Given the description of an element on the screen output the (x, y) to click on. 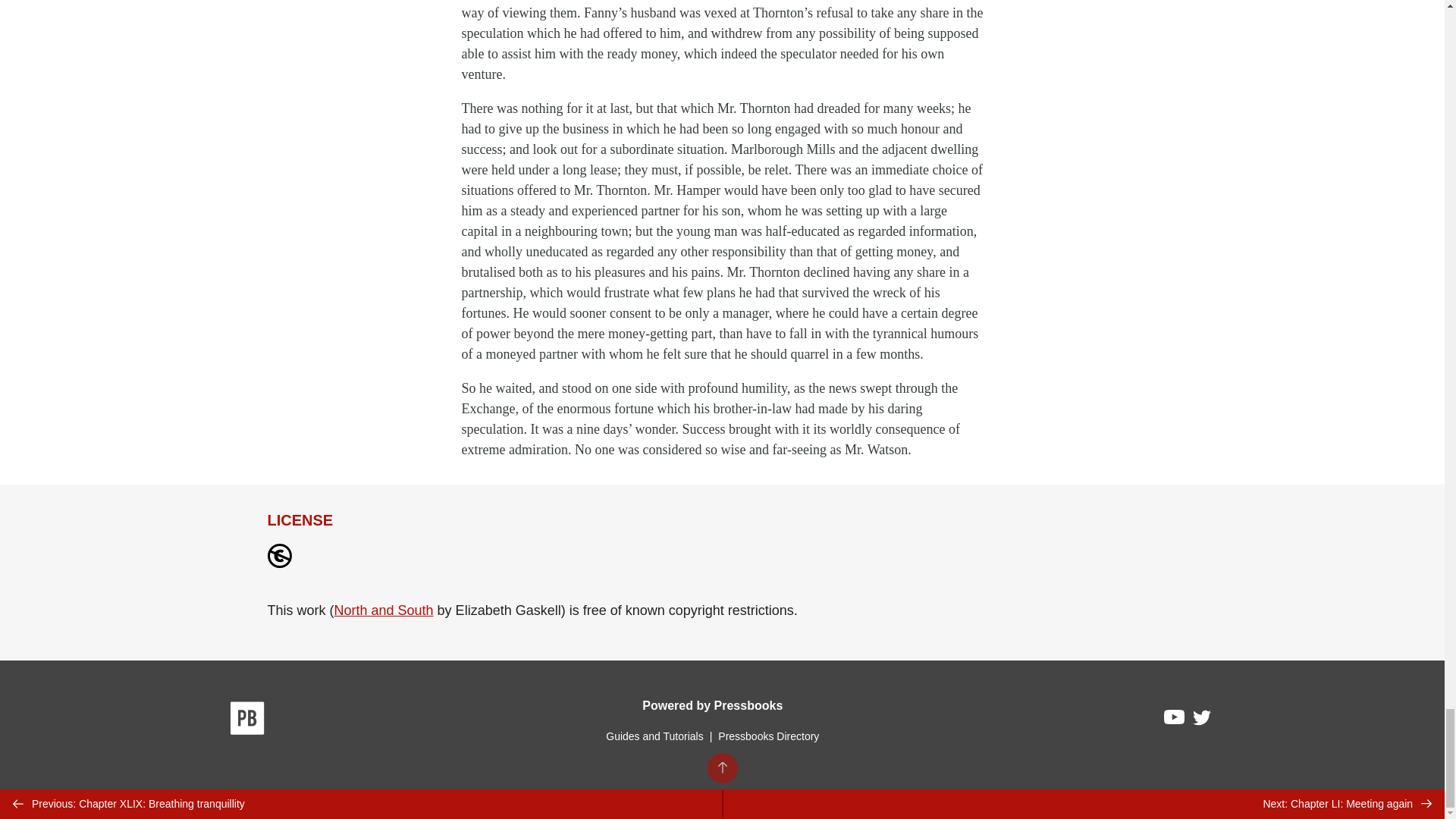
Pressbooks Directory (768, 736)
North and South (383, 610)
Guides and Tutorials (654, 736)
Pressbooks on YouTube (1174, 721)
Powered by Pressbooks (712, 705)
